Given the description of an element on the screen output the (x, y) to click on. 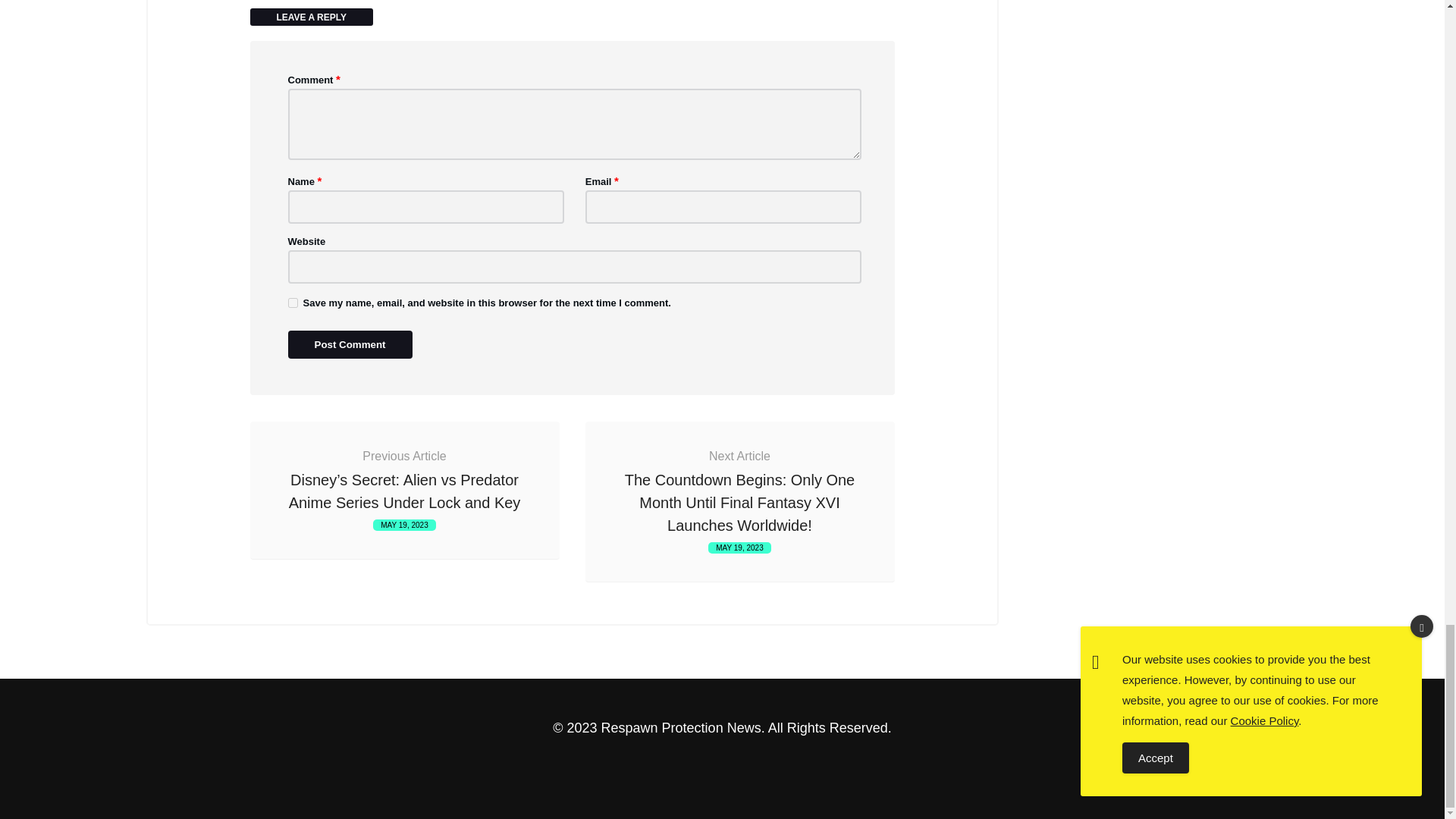
Post Comment (350, 344)
yes (293, 302)
Post Comment (350, 344)
